Given the description of an element on the screen output the (x, y) to click on. 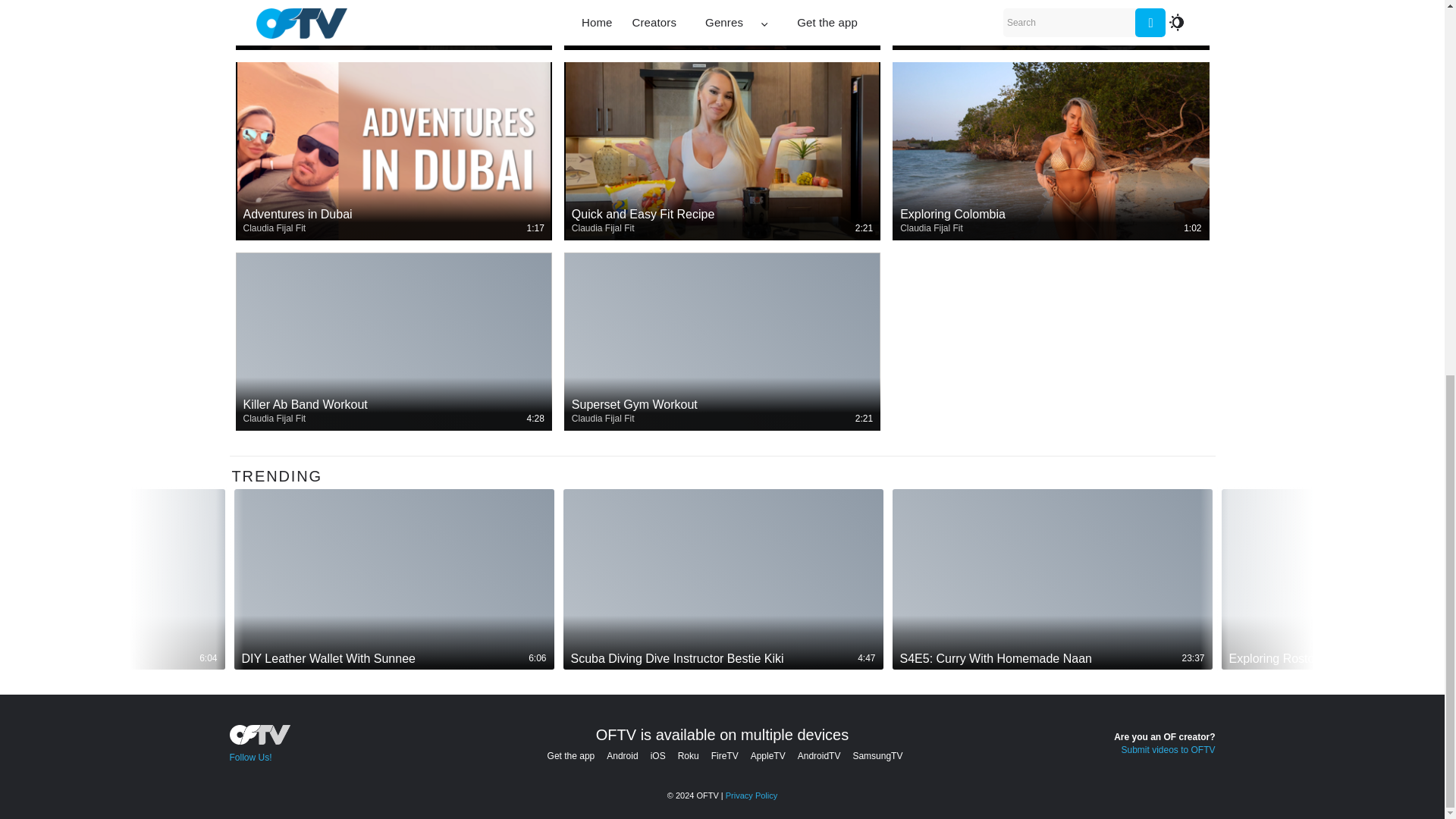
Building These Shoulders (393, 23)
Claudia Fijal Fit (930, 38)
Adventures in Dubai (393, 214)
Claudia Fijal Fit (274, 38)
Five Points to Consider for Competing In Bodybuilding (722, 23)
Adventures in Dubai (393, 222)
Building These Shoulders (393, 30)
Claudia Fijal Fit (274, 228)
Building my Booty! (1050, 23)
Building my Booty! (1050, 30)
